Given the description of an element on the screen output the (x, y) to click on. 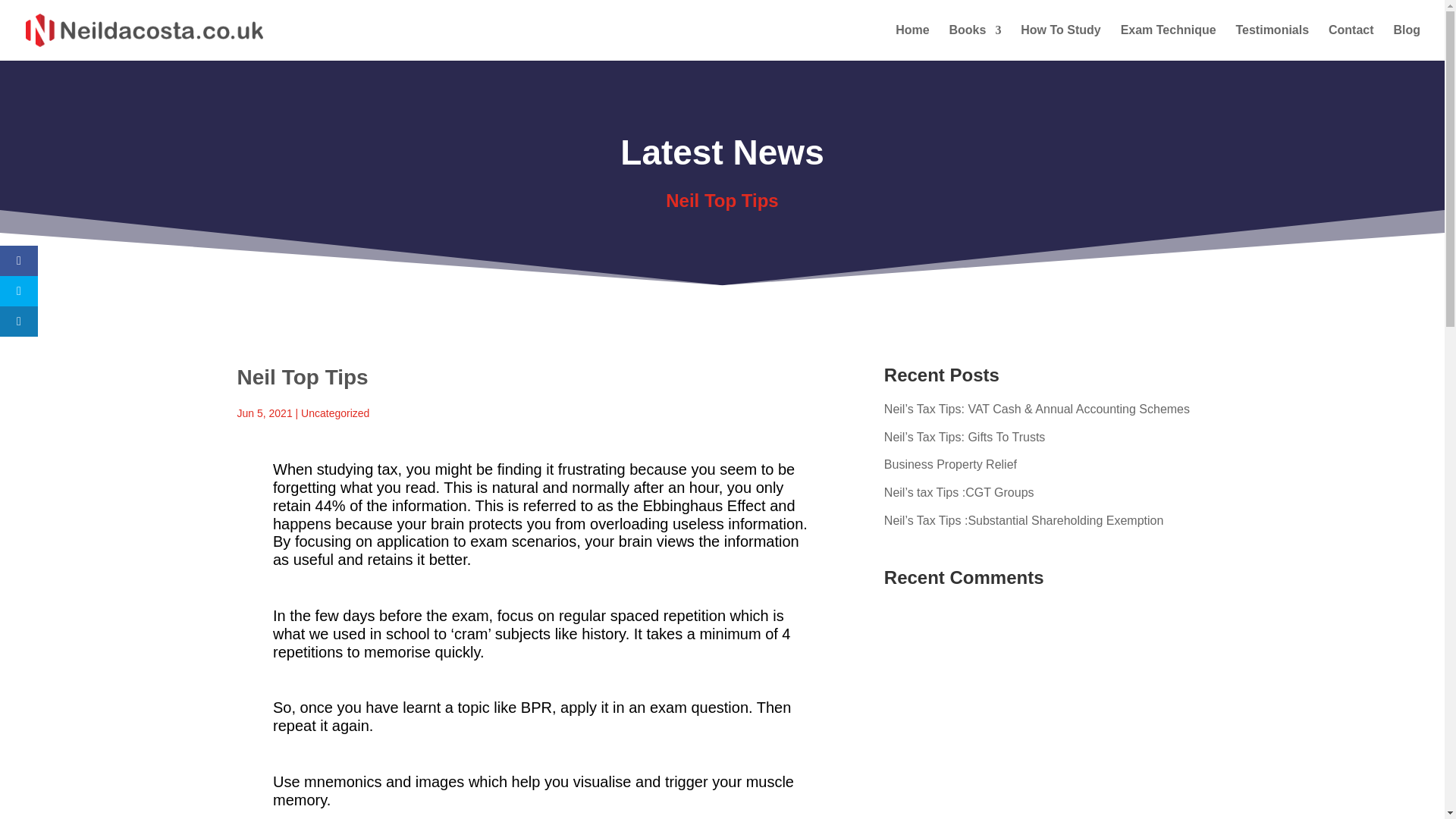
Testimonials (1271, 42)
Contact (1350, 42)
Home (911, 42)
Exam Technique (1168, 42)
Business Property Relief (949, 463)
How To Study (1060, 42)
Uncategorized (335, 413)
Books (975, 42)
